Given the description of an element on the screen output the (x, y) to click on. 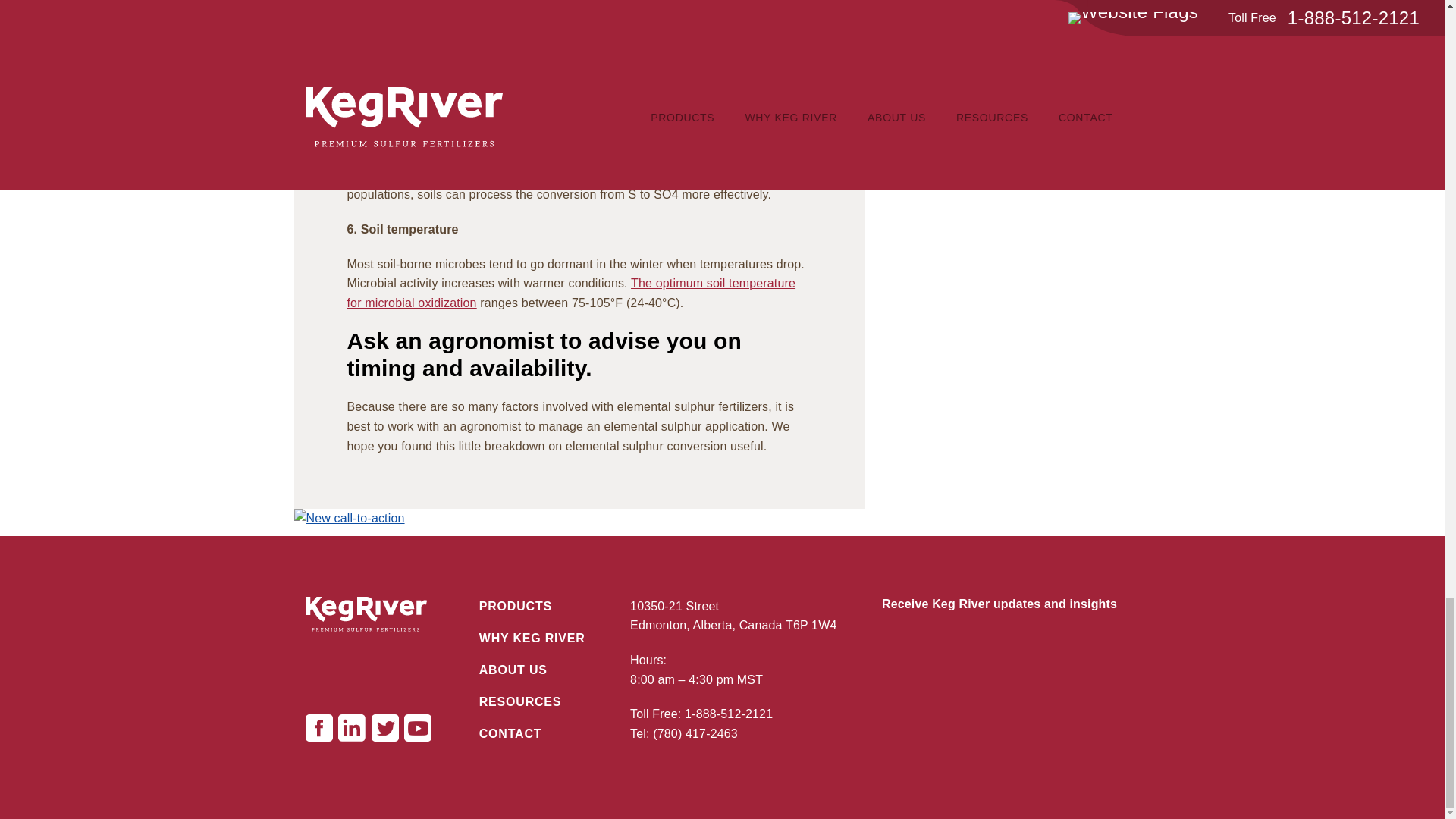
The optimum soil temperature for microbial oxidization (571, 292)
larger, healthier microbial population (561, 76)
Form 0 (1011, 684)
